Given the description of an element on the screen output the (x, y) to click on. 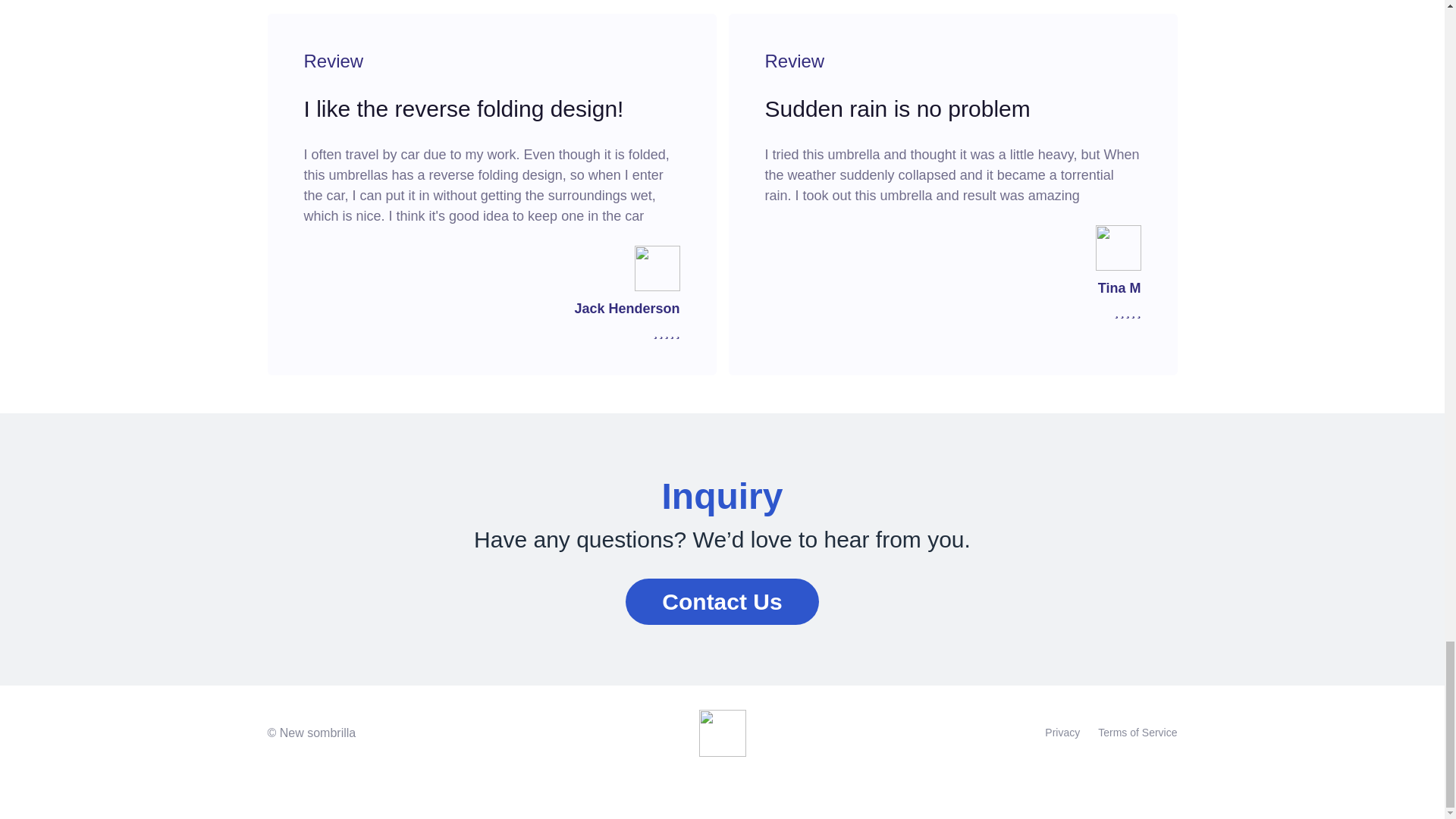
Contact Us (722, 601)
Terms of Service (1136, 733)
Privacy (1062, 733)
